Given the description of an element on the screen output the (x, y) to click on. 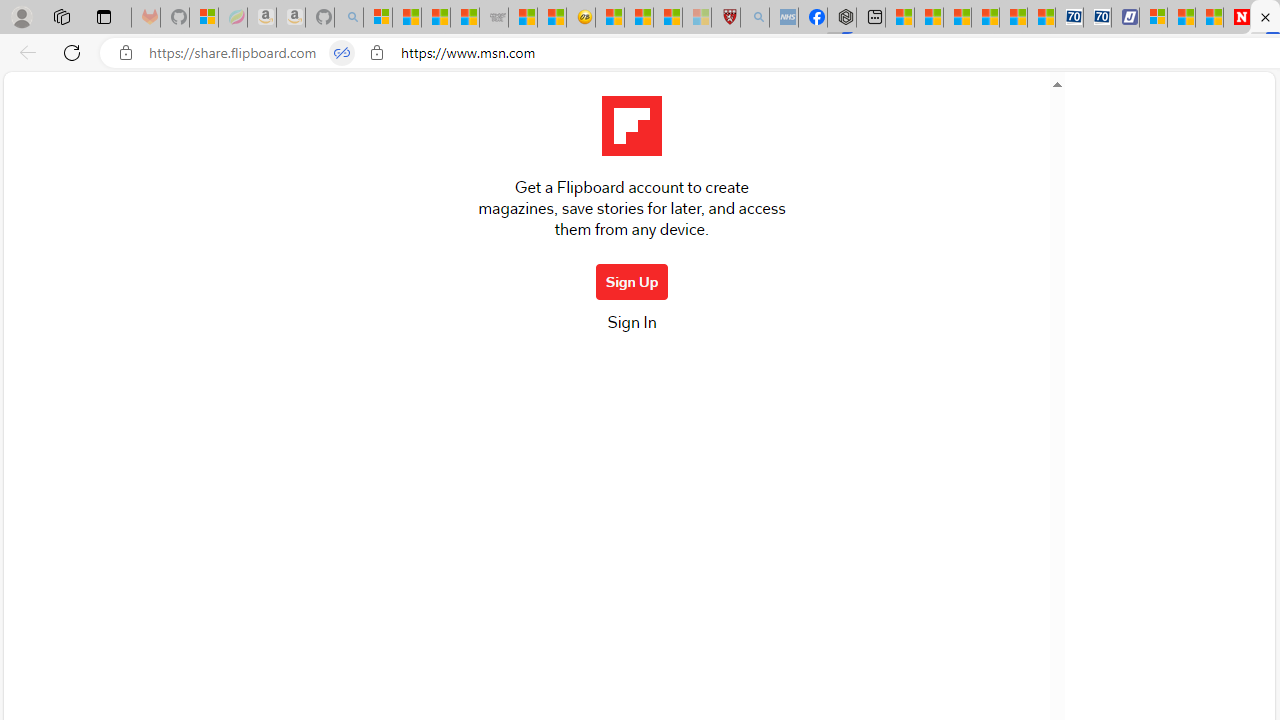
Microsoft account | Privacy (1153, 17)
Sign In (631, 327)
Robert H. Shmerling, MD - Harvard Health (725, 17)
Class: logo (631, 125)
list of asthma inhalers uk - Search - Sleeping (755, 17)
